Given the description of an element on the screen output the (x, y) to click on. 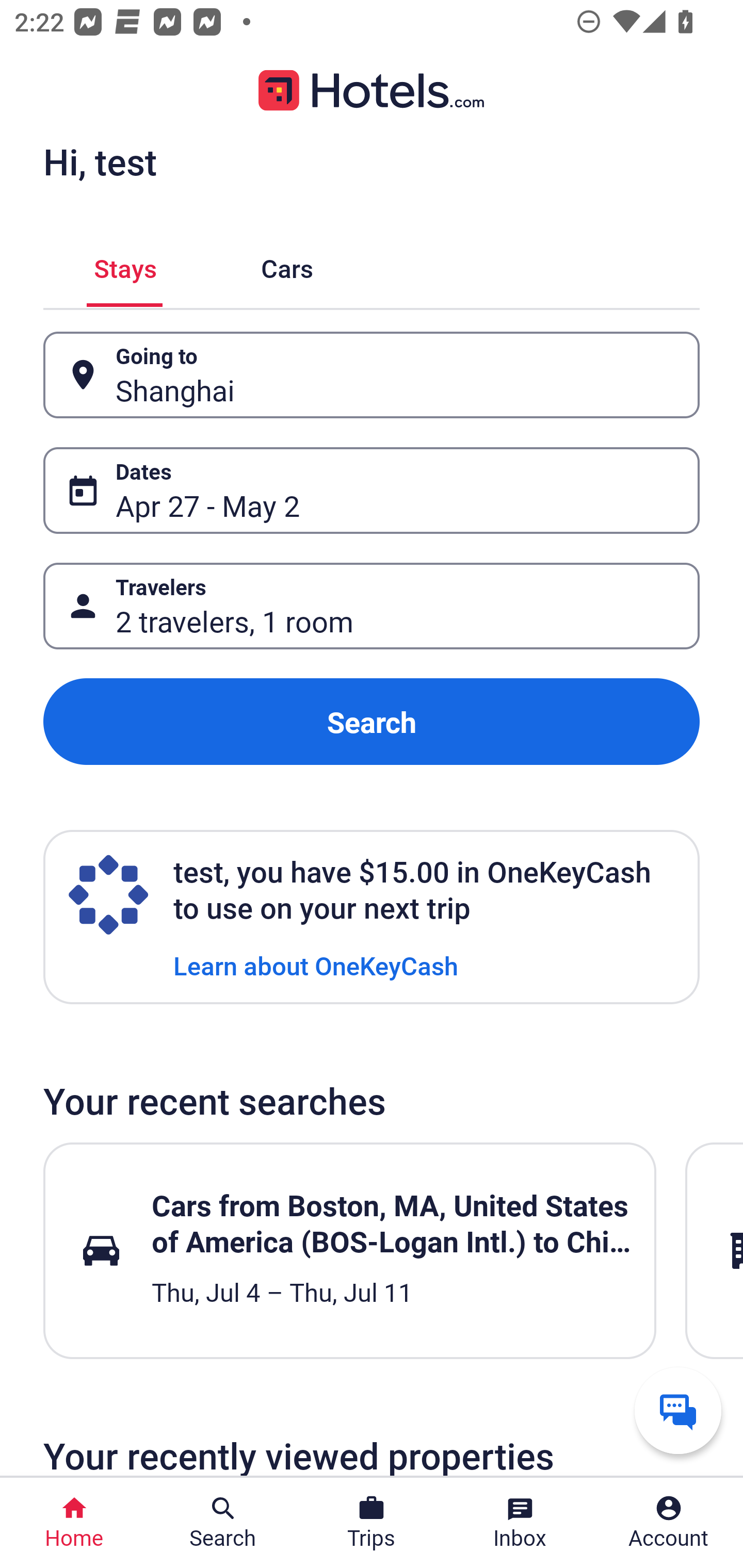
Hi, test (99, 161)
Cars (286, 265)
Going to Button Shanghai (371, 375)
Dates Button Apr 27 - May 2 (371, 489)
Travelers Button 2 travelers, 1 room (371, 605)
Search (371, 721)
Learn about OneKeyCash Learn about OneKeyCash Link (315, 964)
Get help from a virtual agent (677, 1410)
Search Search Button (222, 1522)
Trips Trips Button (371, 1522)
Inbox Inbox Button (519, 1522)
Account Profile. Button (668, 1522)
